Given the description of an element on the screen output the (x, y) to click on. 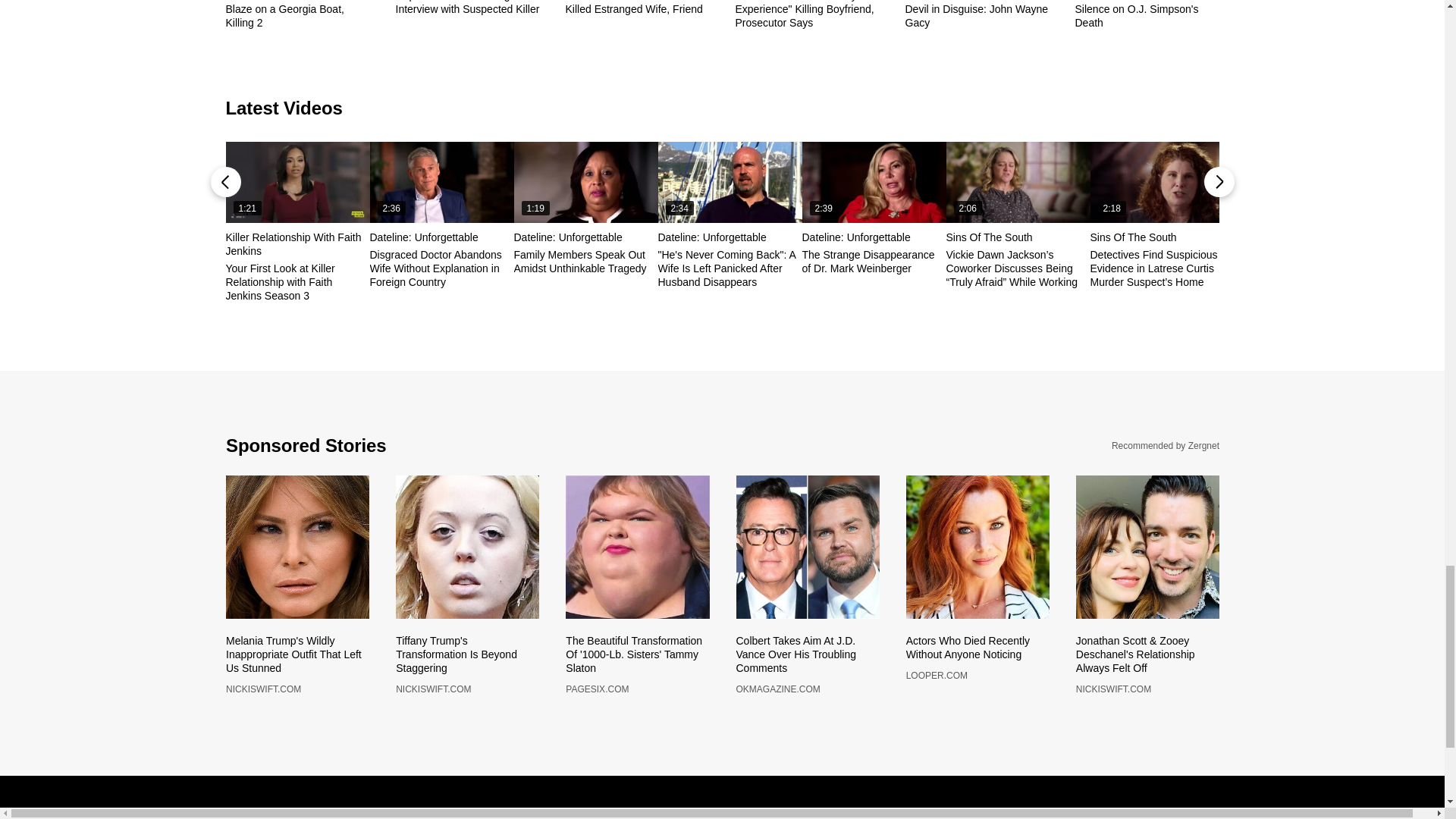
Reporter Details Chilling Interview with Suspected Killer (468, 7)
Man Starts Uncontrollable Blaze on a Georgia Boat, Killing 2 (297, 14)
The Strange Disappearance of Dr. Mark Weinberger (874, 181)
Family Members Speak Out Amidst Unthinkable Tragedy (585, 181)
Famous TikToker Ali Abulaban Killed Estranged Wife, Friend (638, 7)
Michael Chernus to Lead Devil in Disguise: John Wayne Gacy (977, 14)
